Given the description of an element on the screen output the (x, y) to click on. 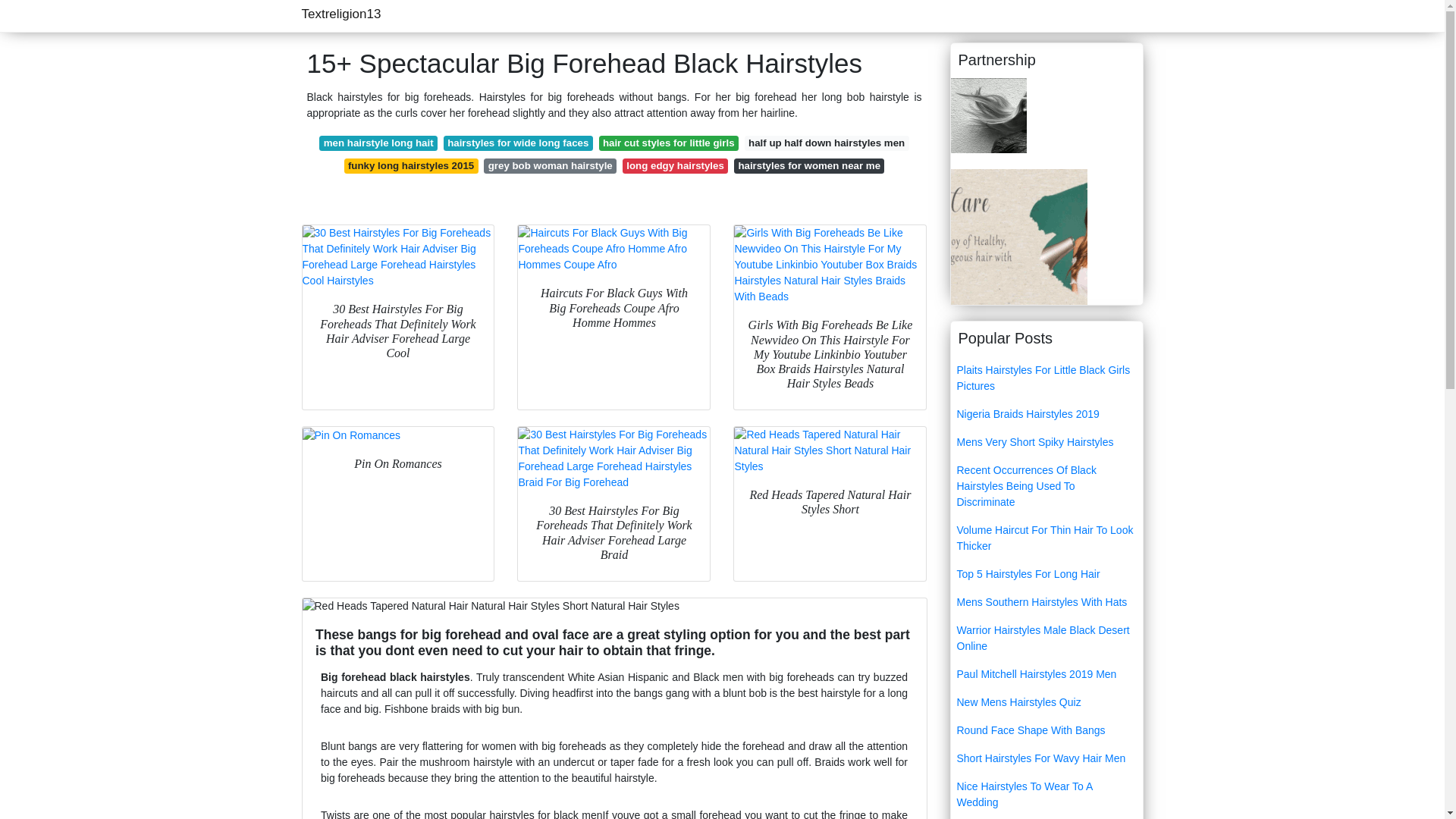
Top 5 Hairstyles For Long Hair (1046, 574)
Nice Hairstyles To Wear To A Wedding (1046, 794)
hairstyles for women near me (808, 165)
funky long hairstyles 2015 (411, 165)
Paul Mitchell Hairstyles 2019 Men (1046, 674)
Short Hairstyles For Wavy Hair Men (1046, 758)
Nigeria Braids Hairstyles 2019 (1046, 414)
Textreligion13 (341, 13)
half up half down hairstyles men (826, 142)
